Given the description of an element on the screen output the (x, y) to click on. 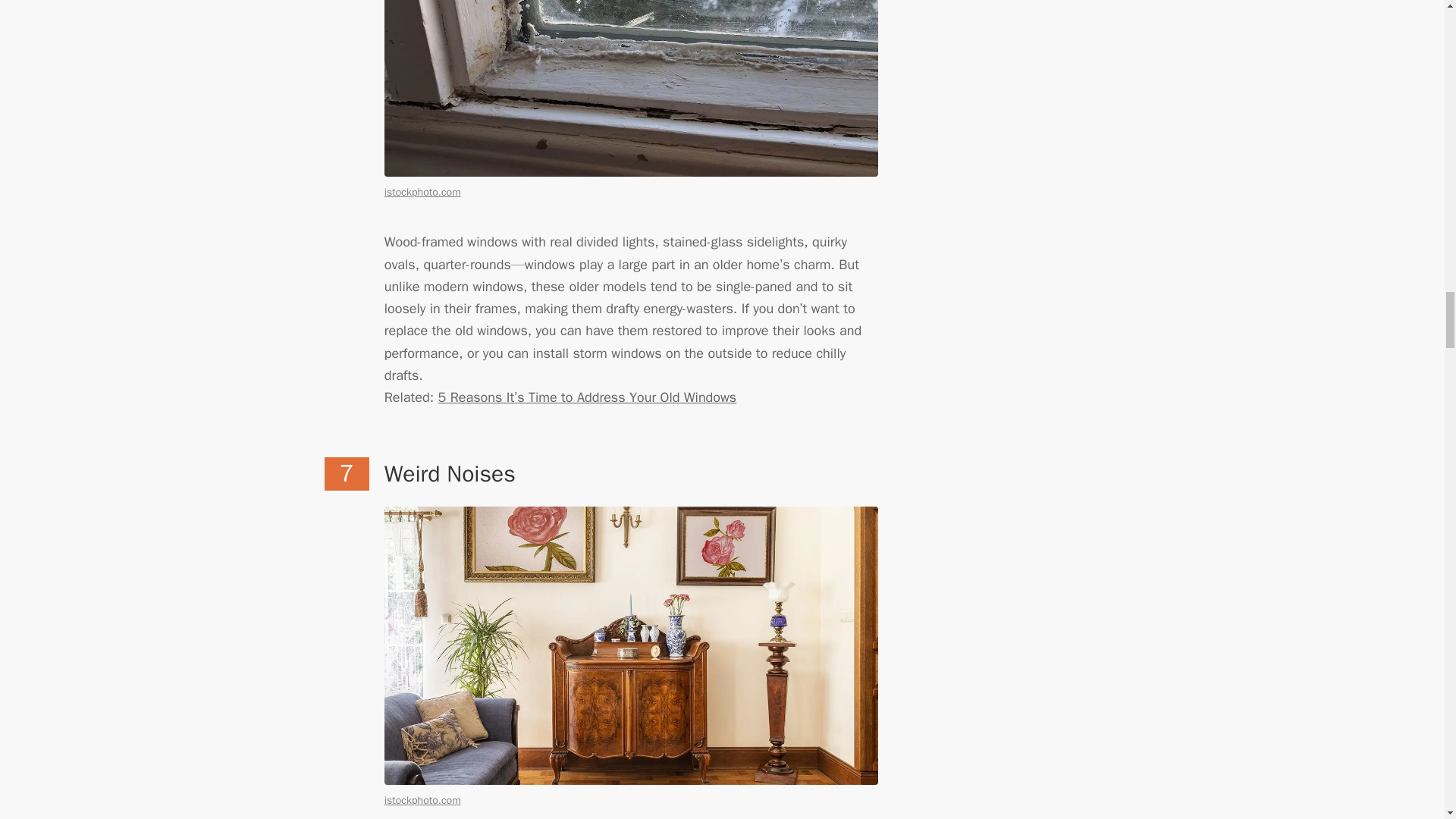
istockphoto.com (422, 192)
istockphoto.com (422, 799)
